Given the description of an element on the screen output the (x, y) to click on. 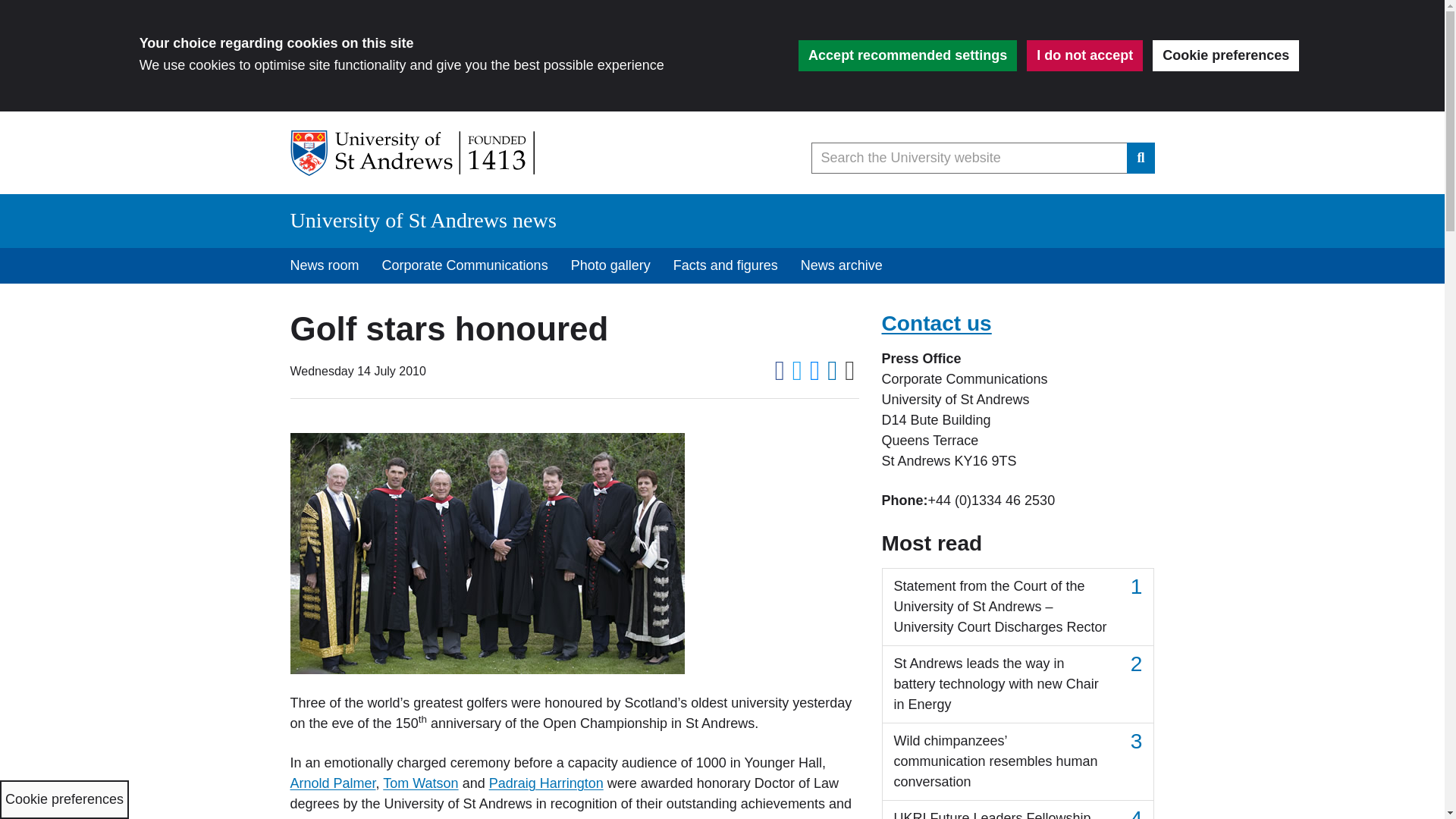
Tom Watson (420, 783)
Corporate Communications (465, 265)
Accept recommended settings (906, 55)
Facts and figures (725, 265)
News room (325, 265)
Photo gallery (610, 265)
Arnold Palmer (332, 783)
Padraig Harrington (546, 783)
University of St Andrews news (422, 219)
Cookie preferences (1225, 55)
